Given the description of an element on the screen output the (x, y) to click on. 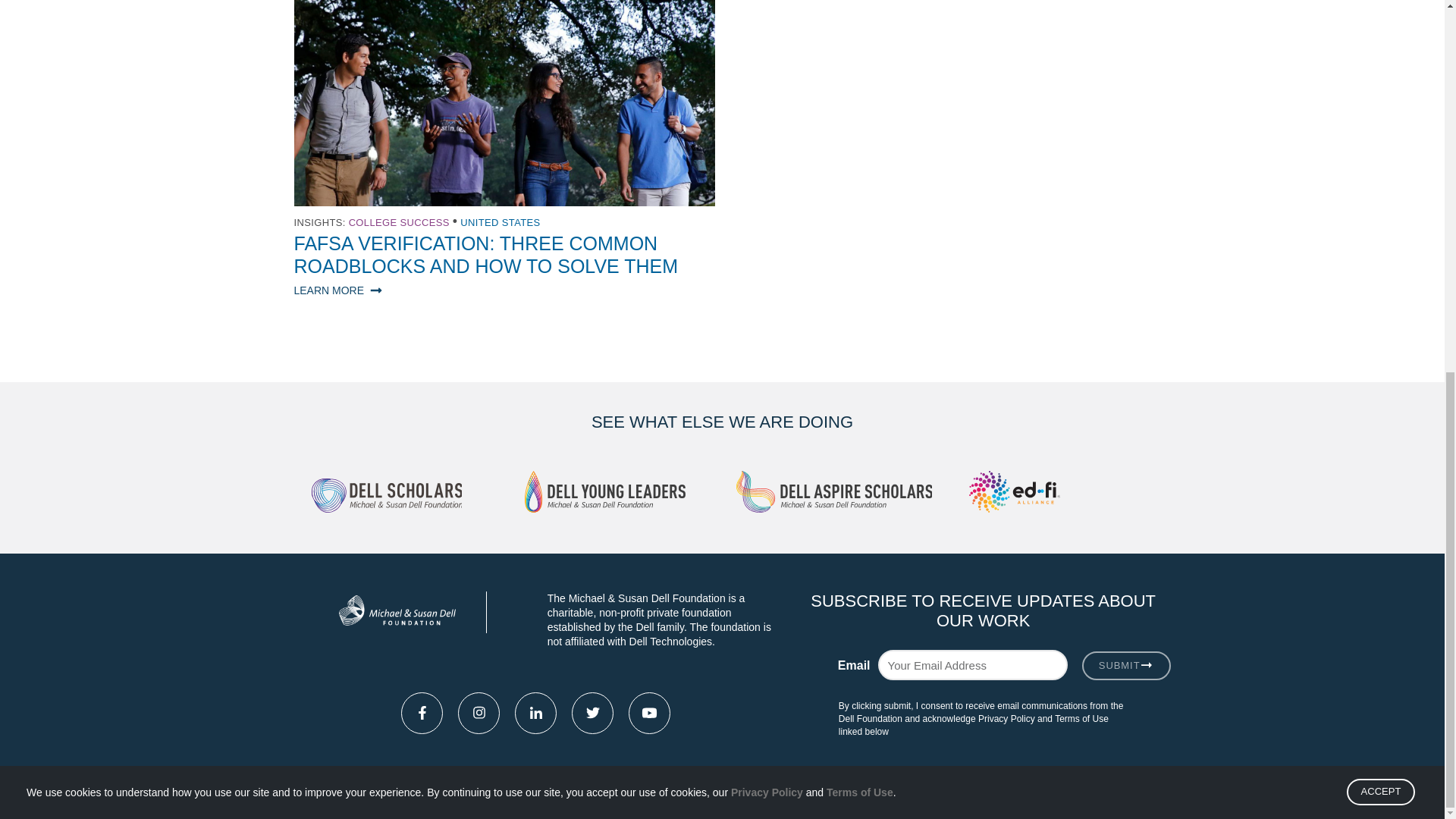
Privacy Policy (766, 395)
Submit (1125, 665)
Terms of Use (860, 379)
ACCEPT (1380, 360)
